Given the description of an element on the screen output the (x, y) to click on. 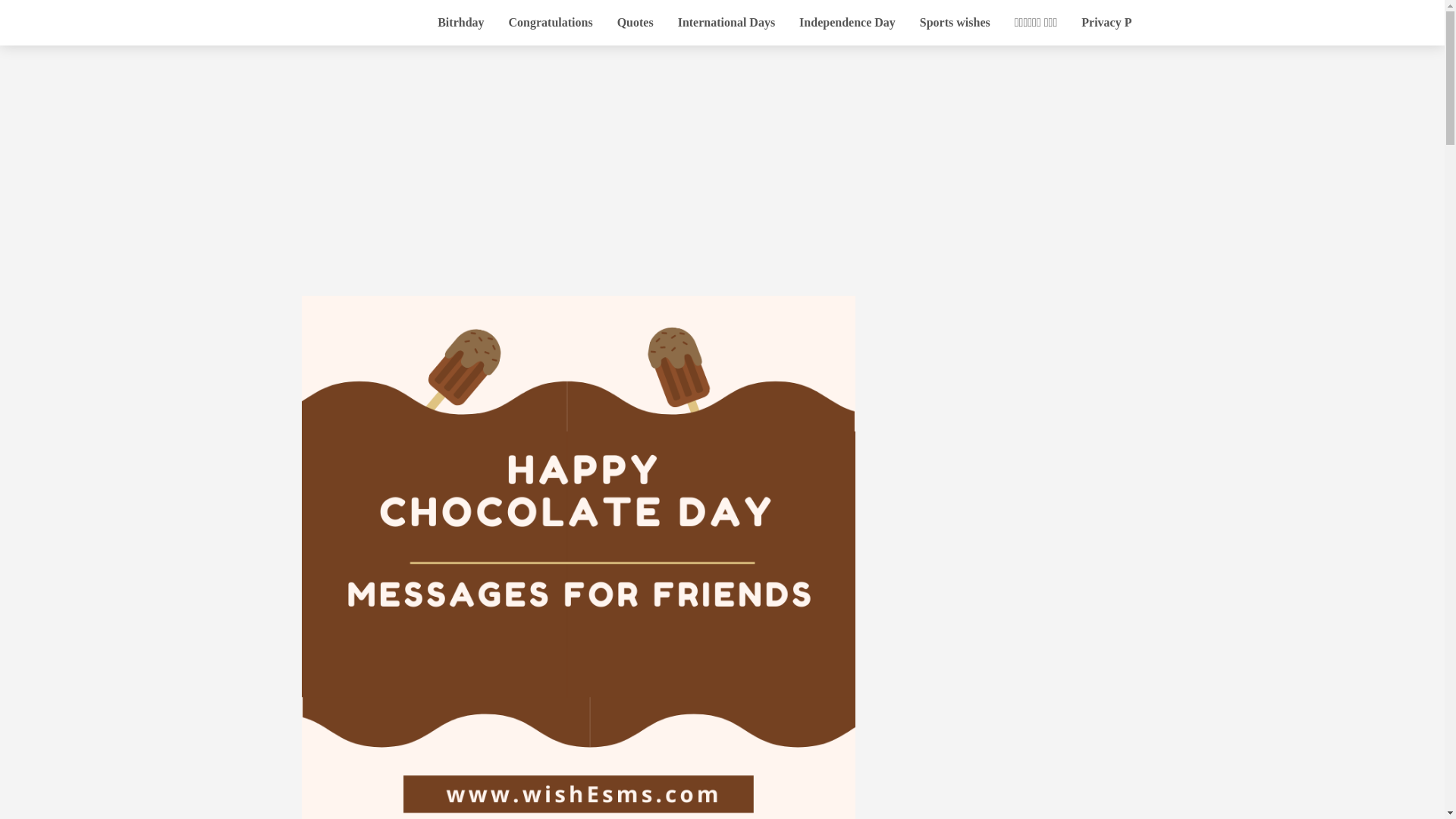
Quotes (635, 22)
Privacy P (1106, 22)
Bitrhday (460, 22)
Independence Day (847, 22)
International Days (726, 22)
Congratulations (550, 22)
Sports wishes (954, 22)
